Given the description of an element on the screen output the (x, y) to click on. 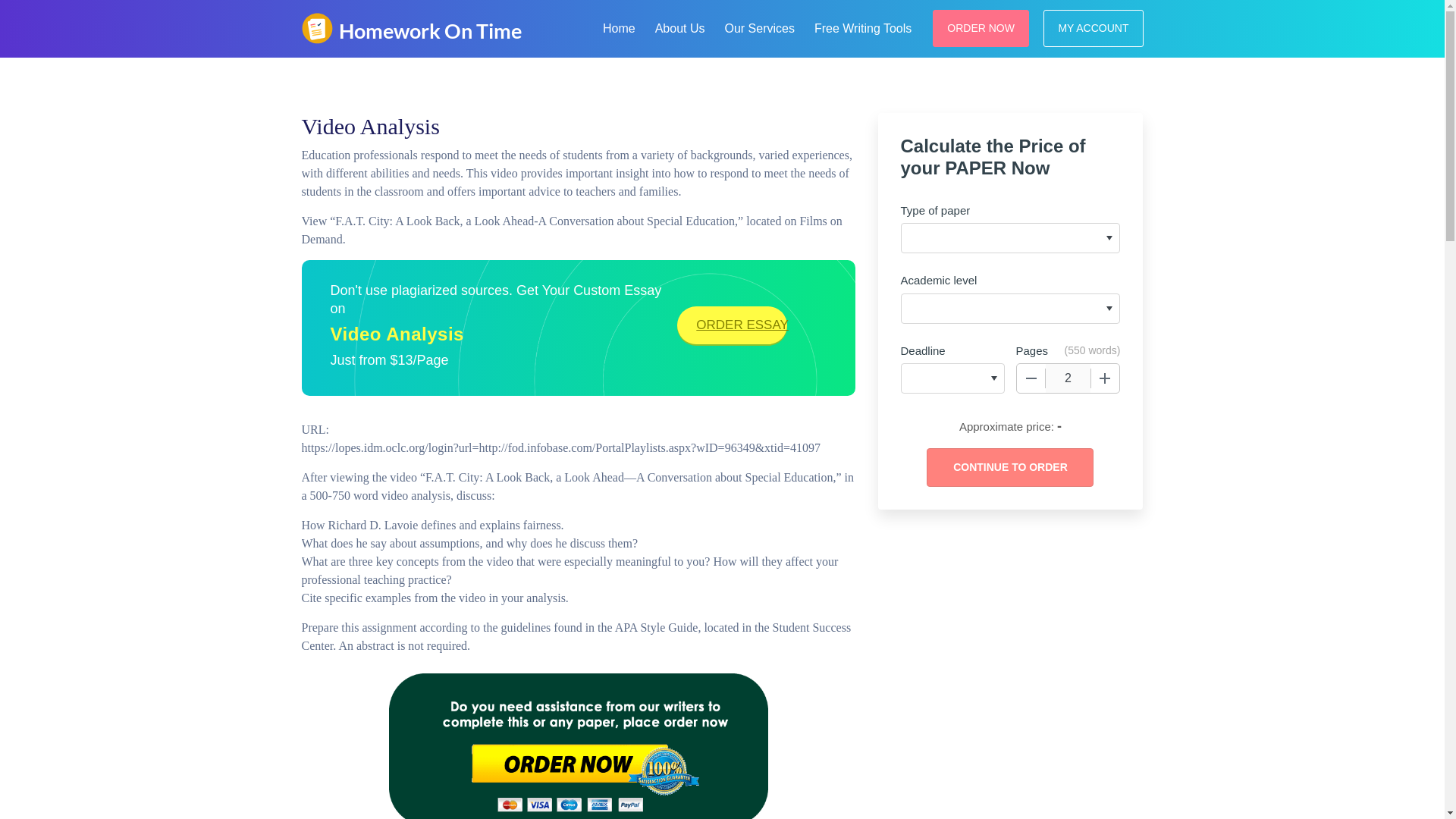
Home (619, 26)
2 (1067, 378)
Free Writing Tools (862, 26)
Continue to order (1009, 466)
About Us (680, 26)
Continue to order (1009, 466)
About Us (680, 26)
ORDER NOW (981, 27)
MY ACCOUNT (1092, 27)
Our Services (758, 26)
